Given the description of an element on the screen output the (x, y) to click on. 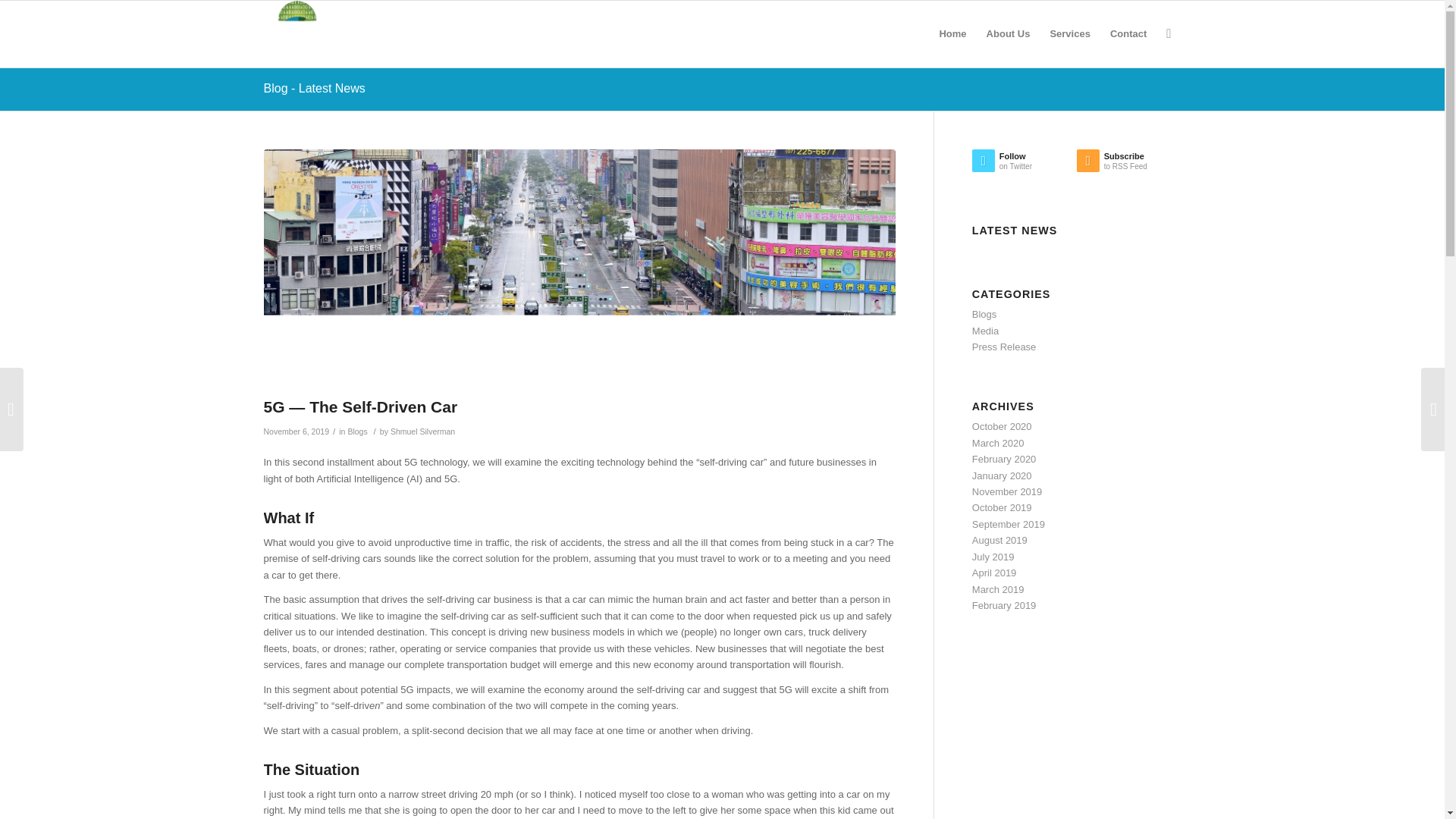
Blog - Latest News (1024, 164)
Posts by Shmuel Silverman (314, 88)
Blogs (422, 430)
Media (984, 314)
Permanent Link: Blog - Latest News (985, 330)
October 2020 (314, 88)
Photo by Laurentiu Morariu on Unsplash (1002, 426)
Blogs (1069, 33)
